Given the description of an element on the screen output the (x, y) to click on. 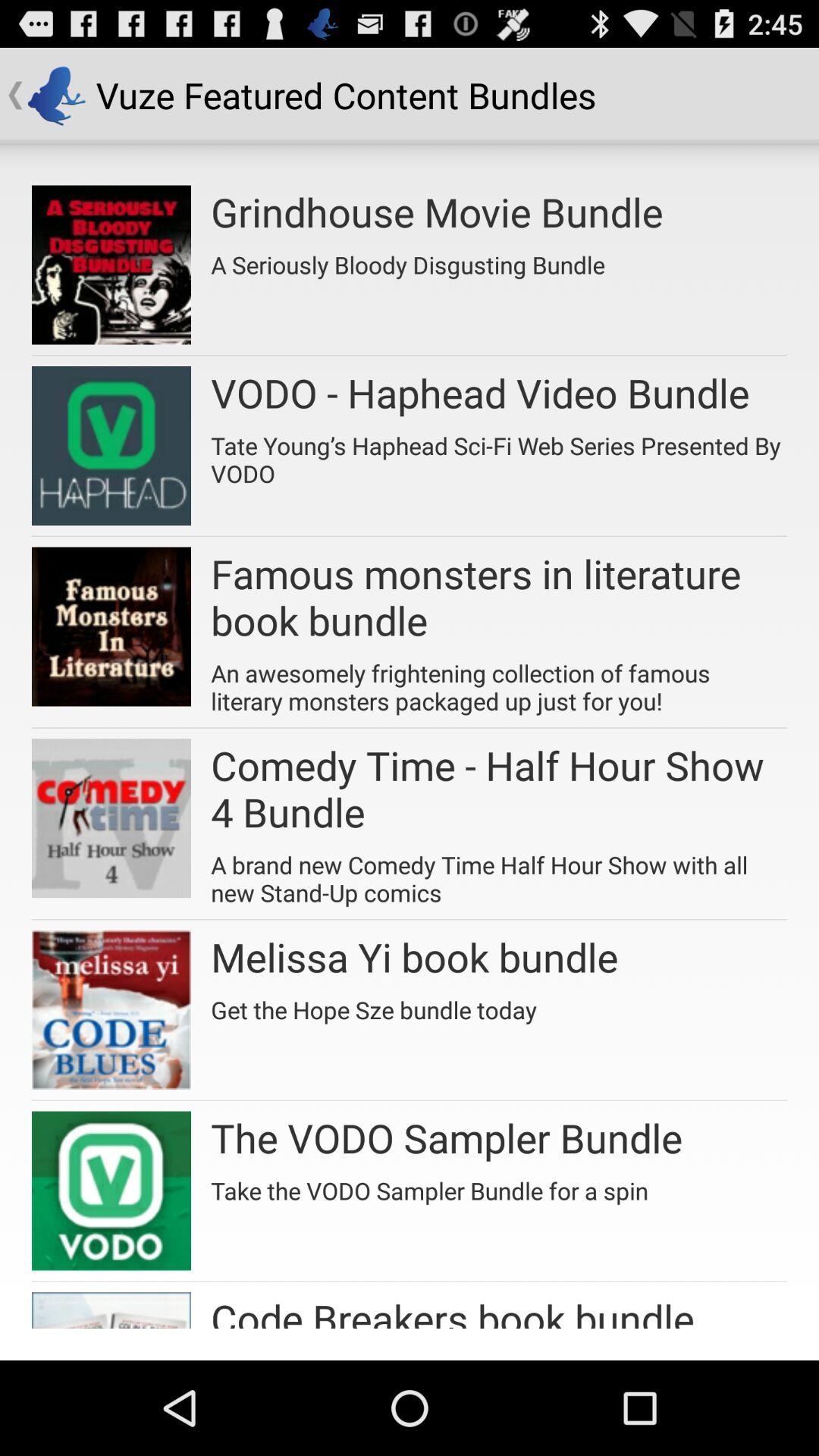
swipe to the a brand new icon (499, 873)
